Given the description of an element on the screen output the (x, y) to click on. 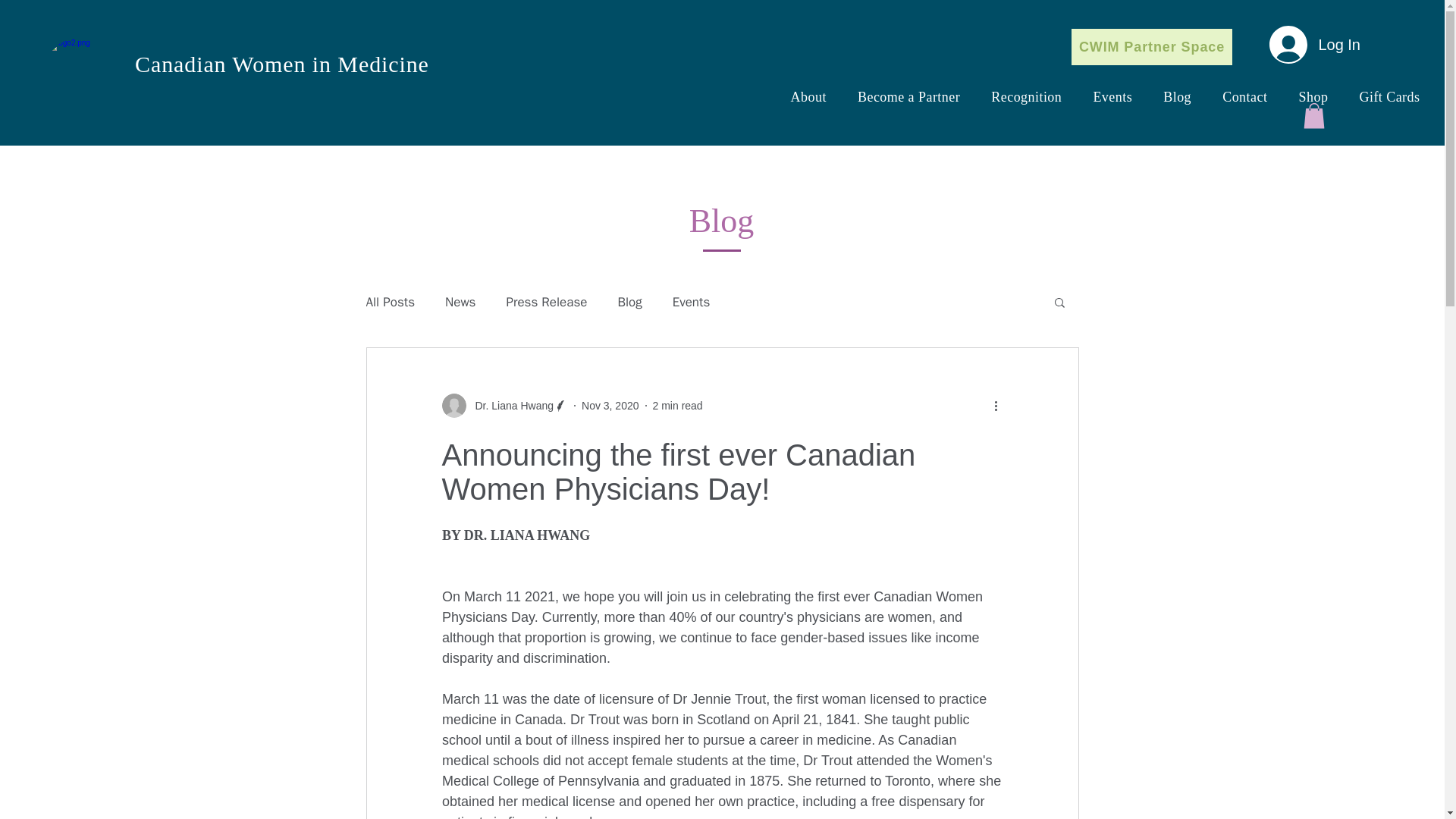
Press Release (545, 301)
Events (1112, 97)
About (807, 97)
Dr. Liana Hwang (509, 405)
Dr. Liana Hwang (504, 405)
Gift Cards (1389, 97)
Events (691, 301)
CWIM Partner Space (1151, 46)
Recognition (1026, 97)
Shop (1312, 97)
